Given the description of an element on the screen output the (x, y) to click on. 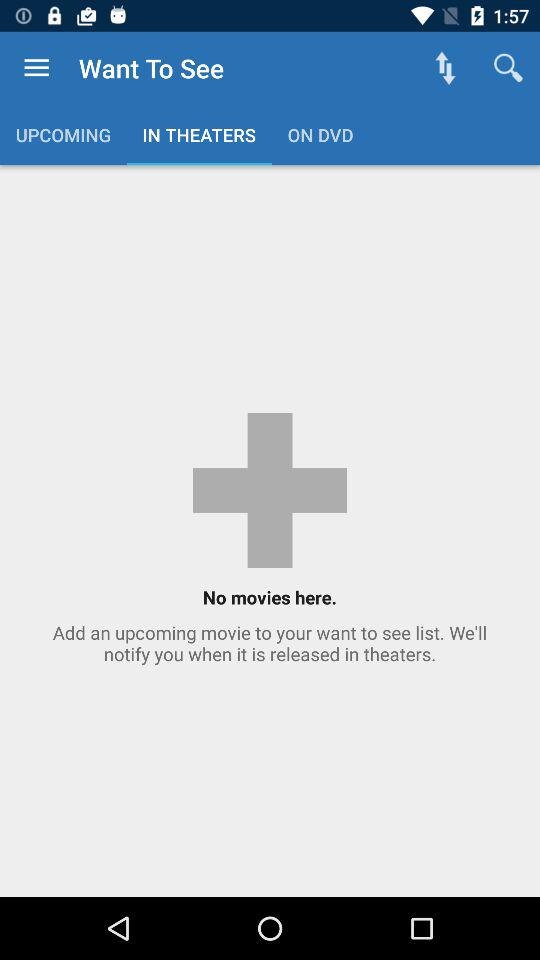
launch icon above the upcoming icon (36, 68)
